Given the description of an element on the screen output the (x, y) to click on. 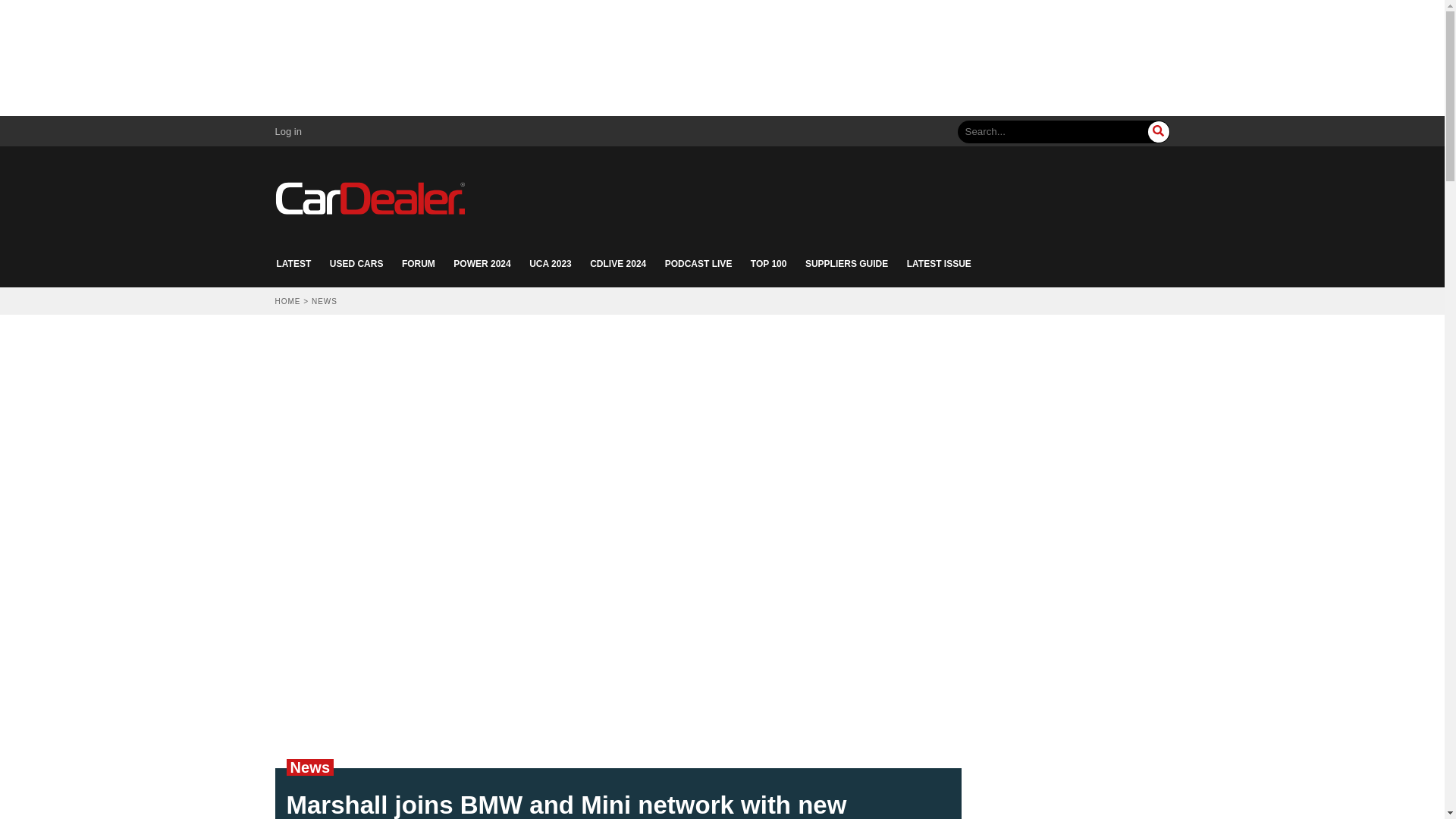
FORUM (418, 263)
TOP 100 (769, 263)
CDLIVE 2024 (617, 263)
LATEST ISSUE (939, 263)
SUPPLIERS GUIDE (846, 263)
PODCAST LIVE (698, 263)
USED CARS (357, 263)
Log in (288, 131)
UCA 2023 (550, 263)
LATEST (293, 263)
